Given the description of an element on the screen output the (x, y) to click on. 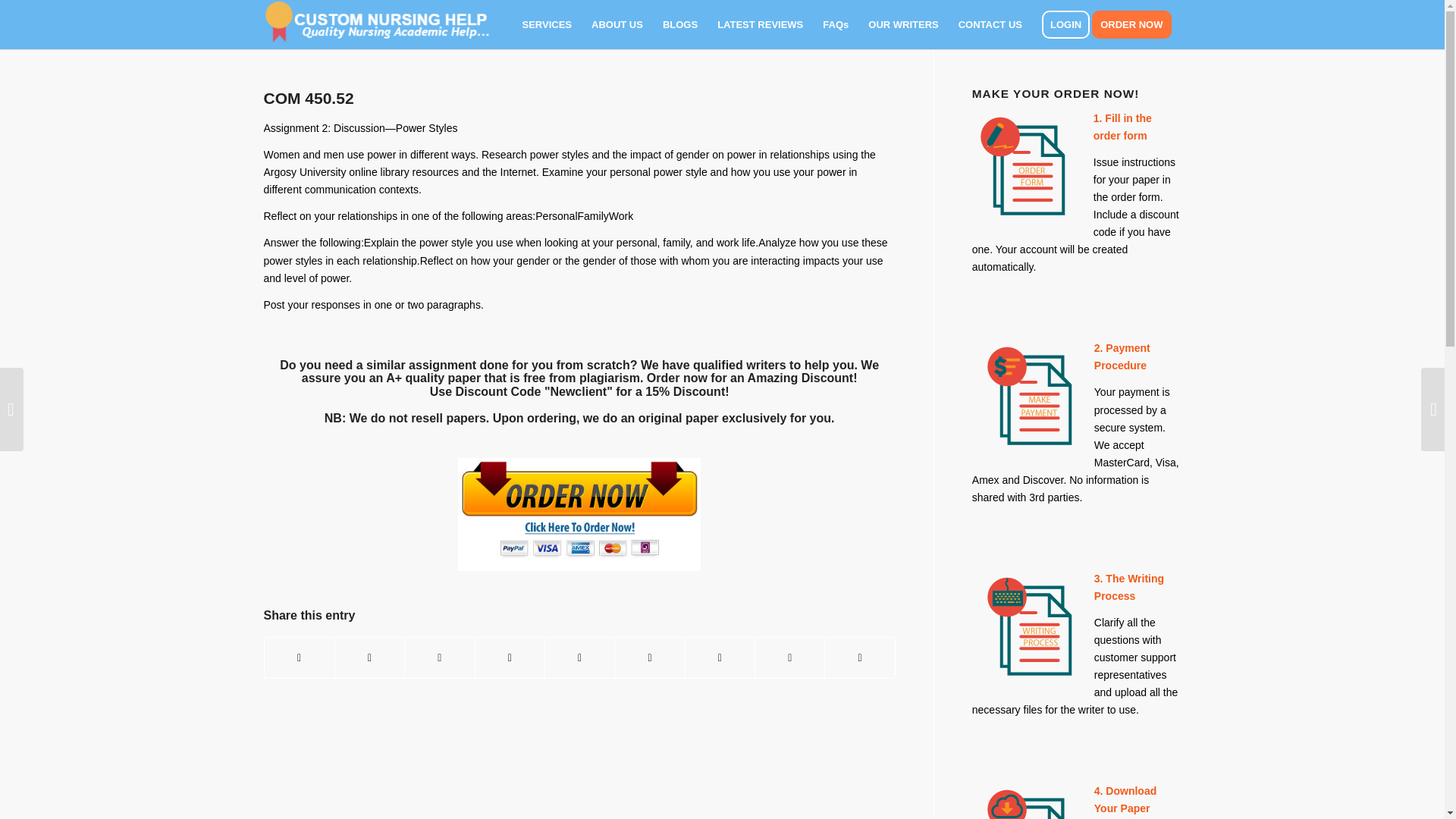
LATEST REVIEWS (759, 24)
BLOGS (679, 24)
FAQs (835, 24)
ABOUT US (616, 24)
LOGIN (1065, 24)
SERVICES (547, 24)
Permanent Link: COM 450.52 (308, 98)
COM 450.52 (308, 98)
ORDER NOW (1136, 24)
CONTACT US (990, 24)
OUR WRITERS (903, 24)
